Given the description of an element on the screen output the (x, y) to click on. 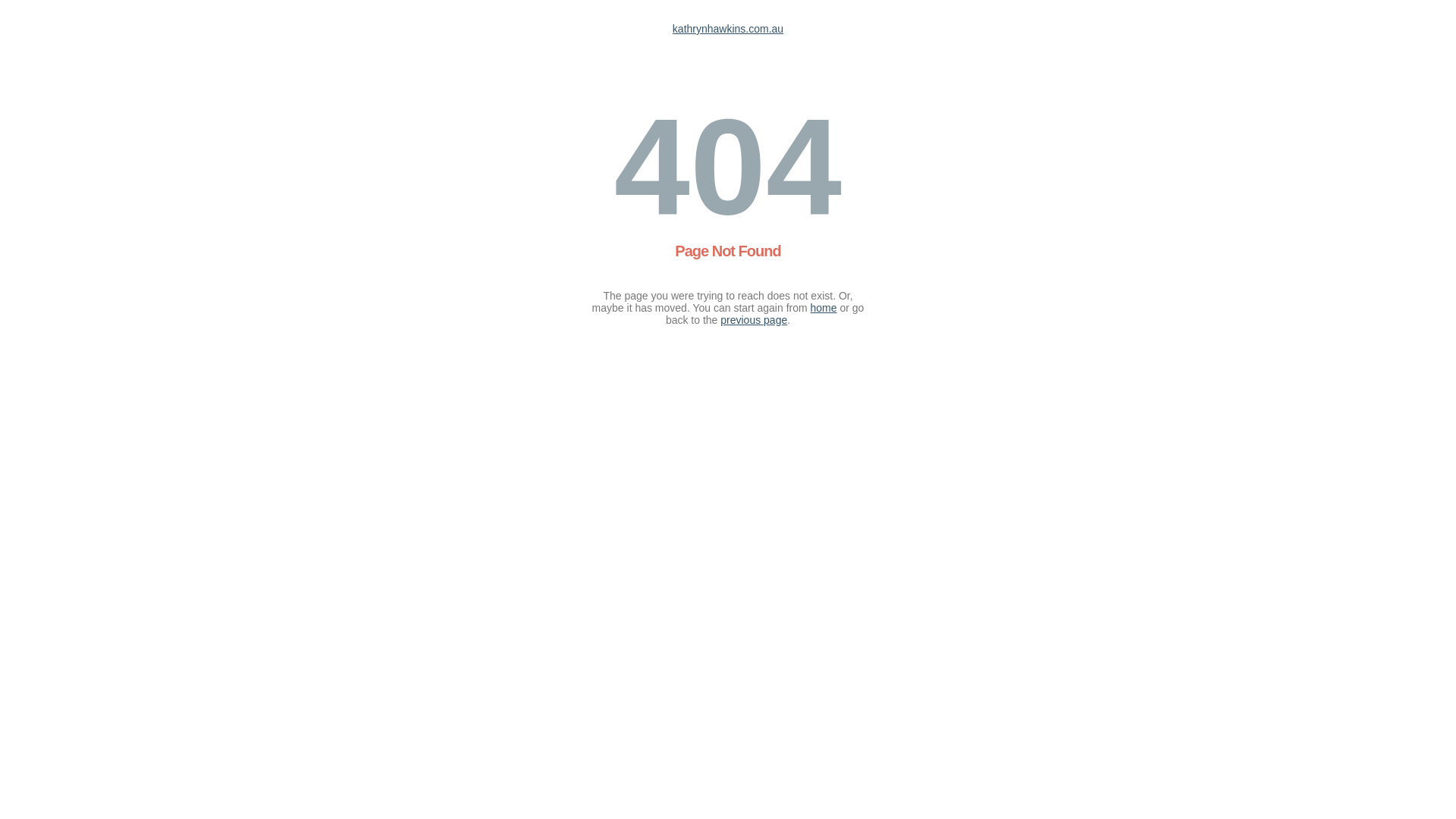
home Element type: text (823, 307)
previous page Element type: text (753, 319)
kathrynhawkins.com.au Element type: text (727, 28)
